Given the description of an element on the screen output the (x, y) to click on. 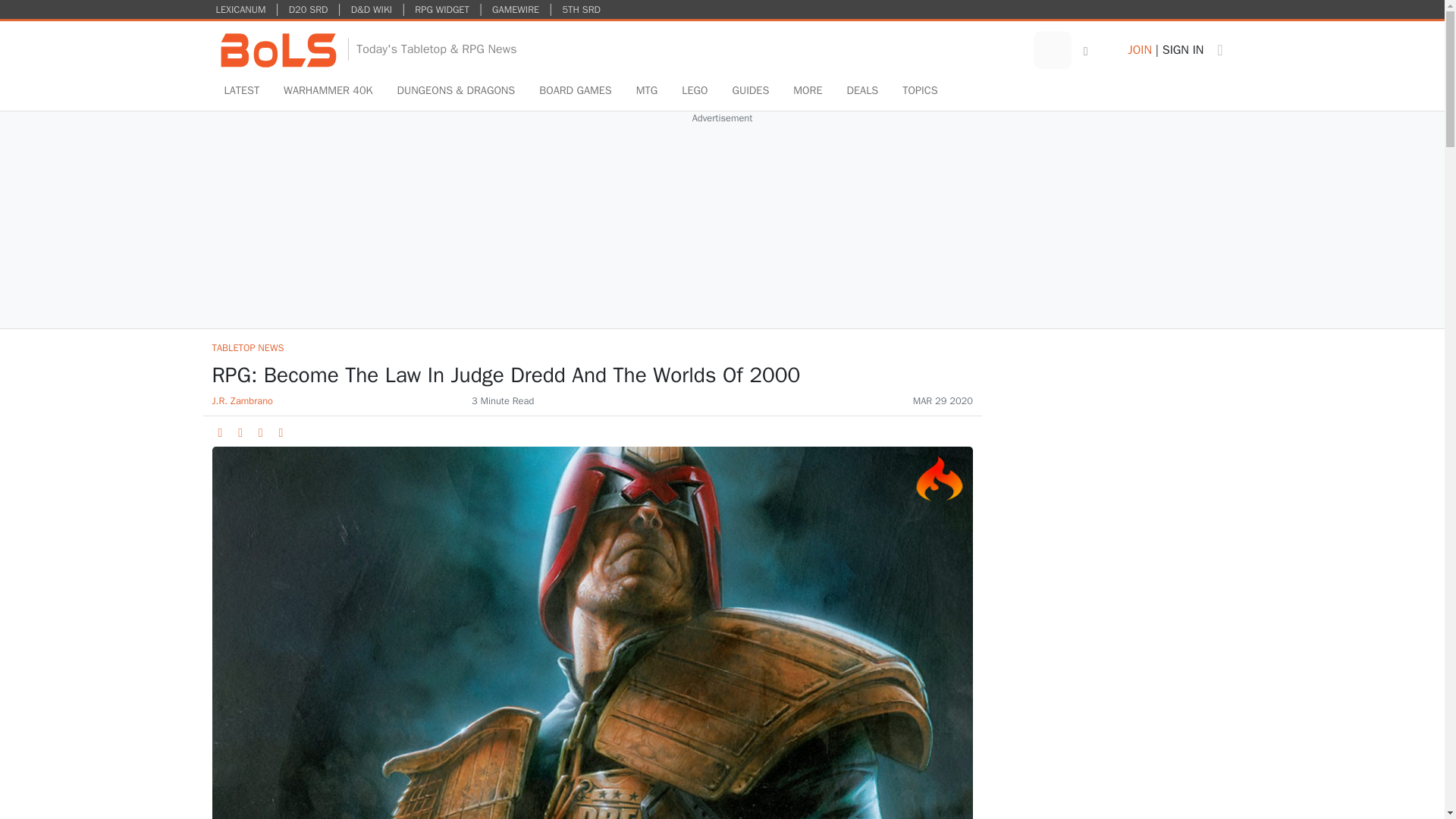
5th SRD (580, 9)
Warhammer 40k (327, 90)
GUIDES (749, 90)
RPG WIDGET (441, 9)
BOARD GAMES (575, 90)
Board Games (575, 90)
MTG (646, 90)
GAMEWIRE (515, 9)
LEGO (694, 90)
MORE (807, 90)
